Given the description of an element on the screen output the (x, y) to click on. 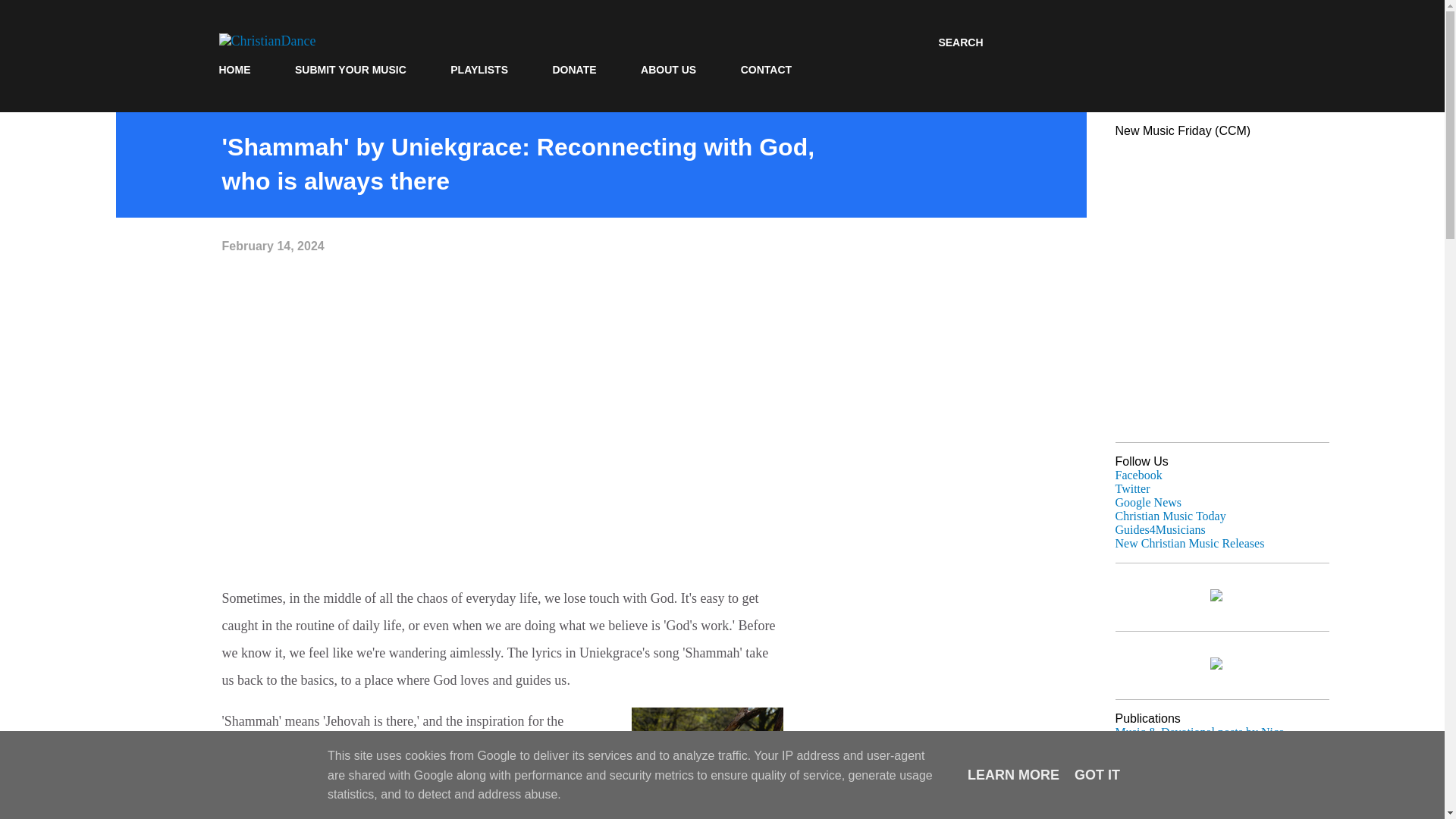
DONATE (574, 69)
permanent link (272, 245)
ABOUT US (667, 69)
SUBMIT YOUR MUSIC (349, 69)
February 14, 2024 (272, 245)
CONTACT (766, 69)
Uniekgrace - Shammah (706, 763)
SEARCH (959, 42)
PLAYLISTS (478, 69)
HOME (238, 69)
